Given the description of an element on the screen output the (x, y) to click on. 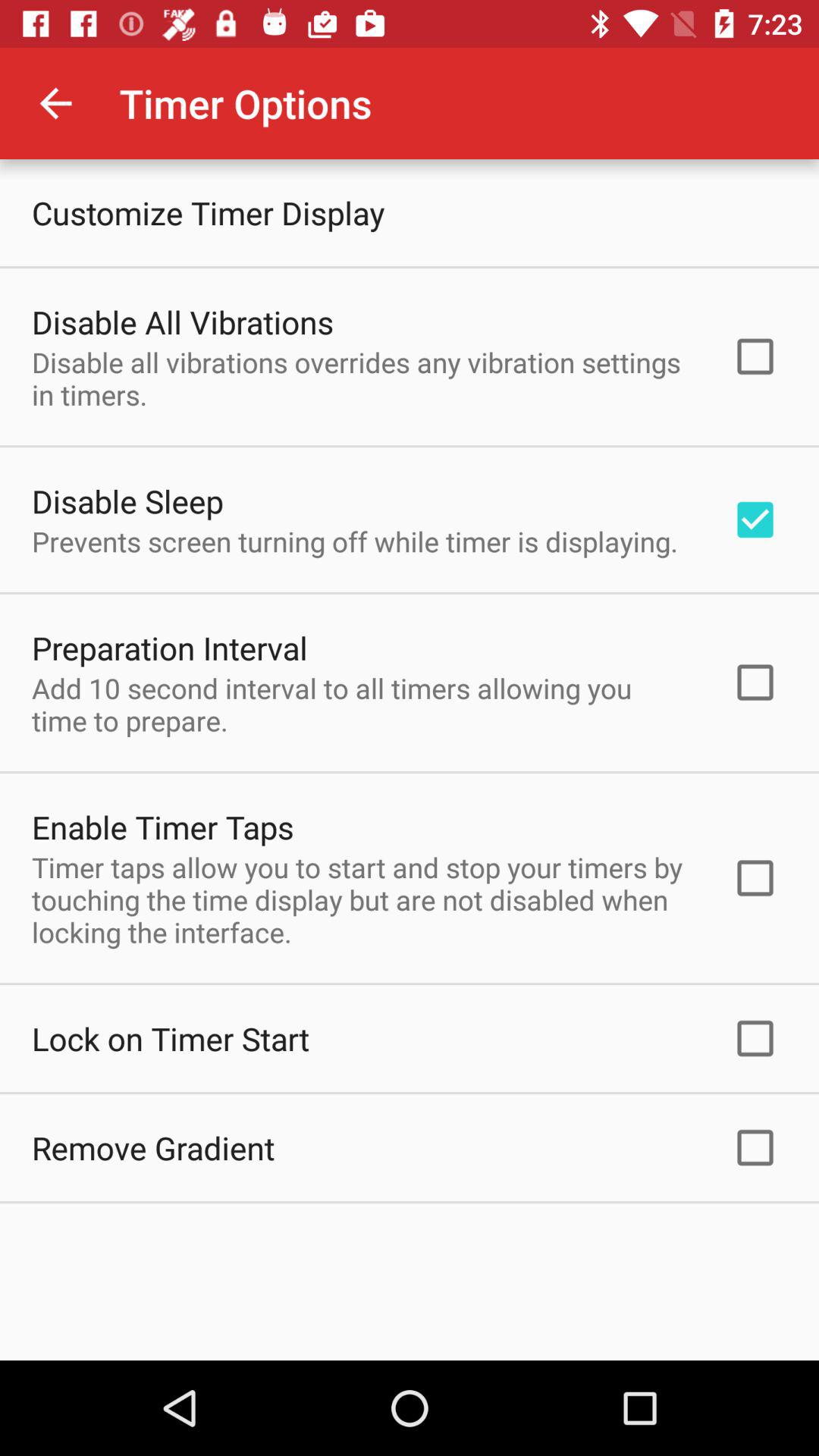
press the disable sleep item (127, 500)
